Given the description of an element on the screen output the (x, y) to click on. 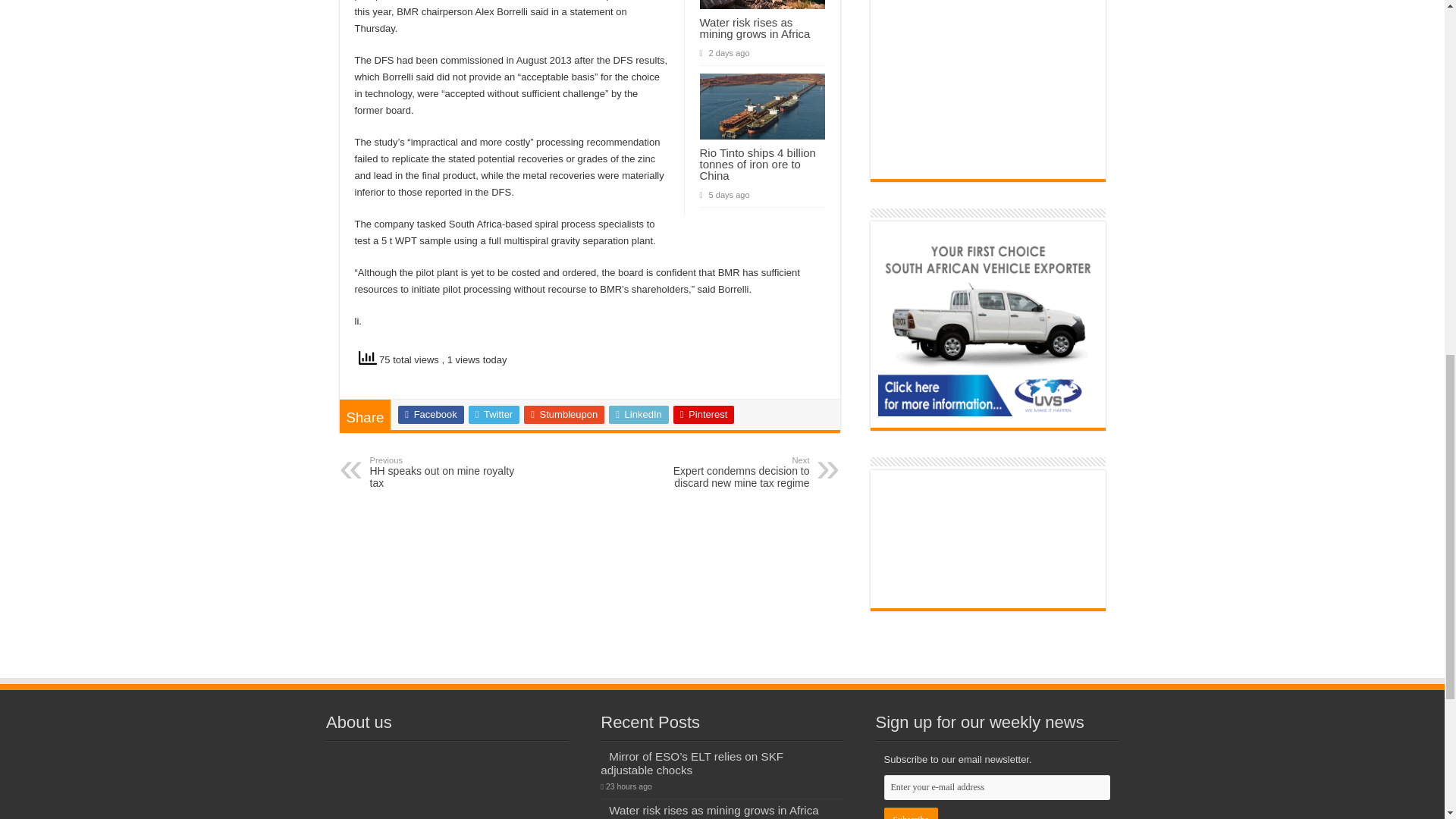
Enter your e-mail address (996, 787)
Subscribe (910, 813)
